Given the description of an element on the screen output the (x, y) to click on. 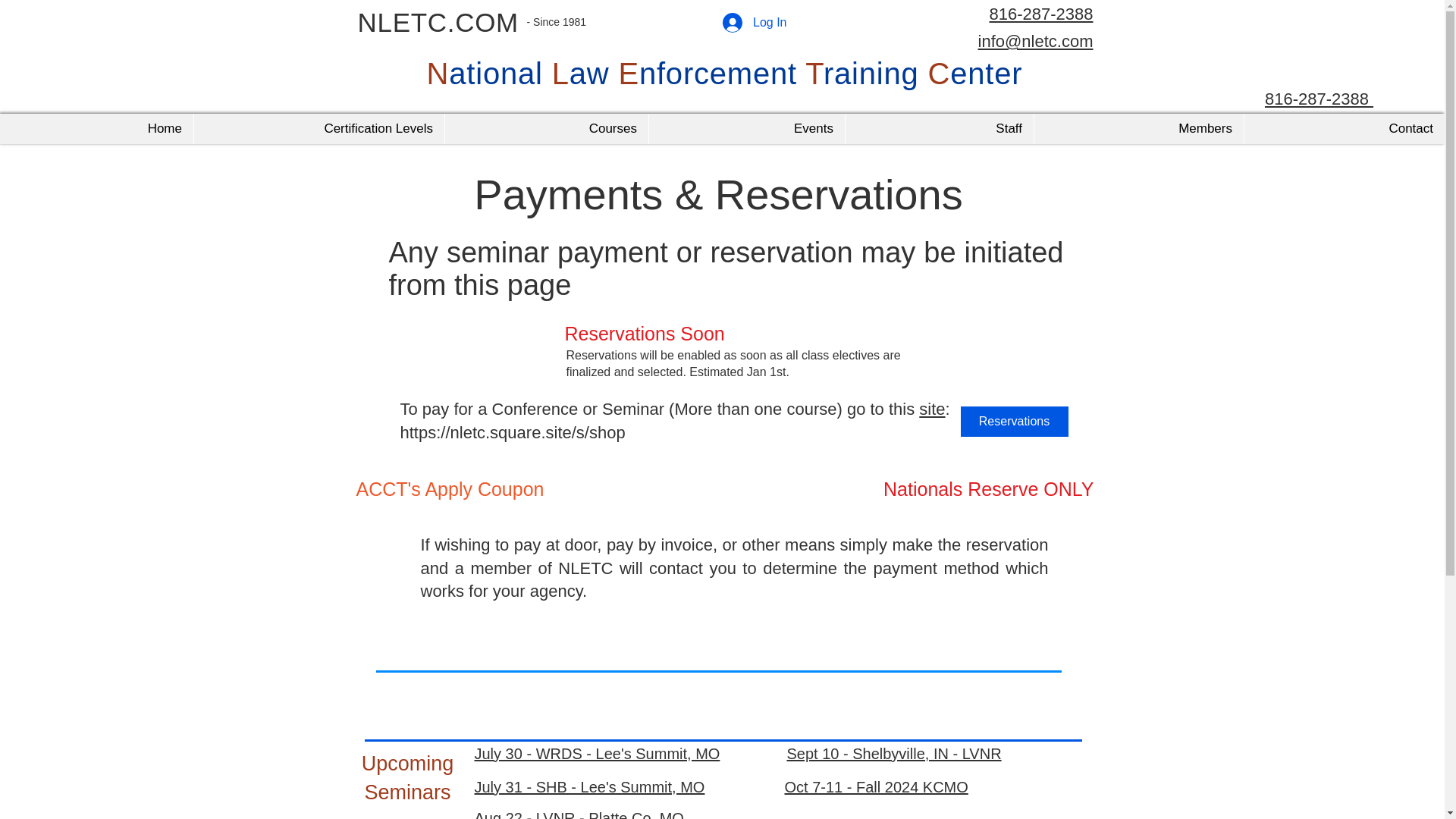
site (931, 408)
Certification Levels (318, 128)
Staff (938, 128)
816-287-2388  (1319, 97)
Home (96, 128)
Log In (753, 22)
816-287-2388 (1040, 13)
NLETC.COM (438, 21)
